Given the description of an element on the screen output the (x, y) to click on. 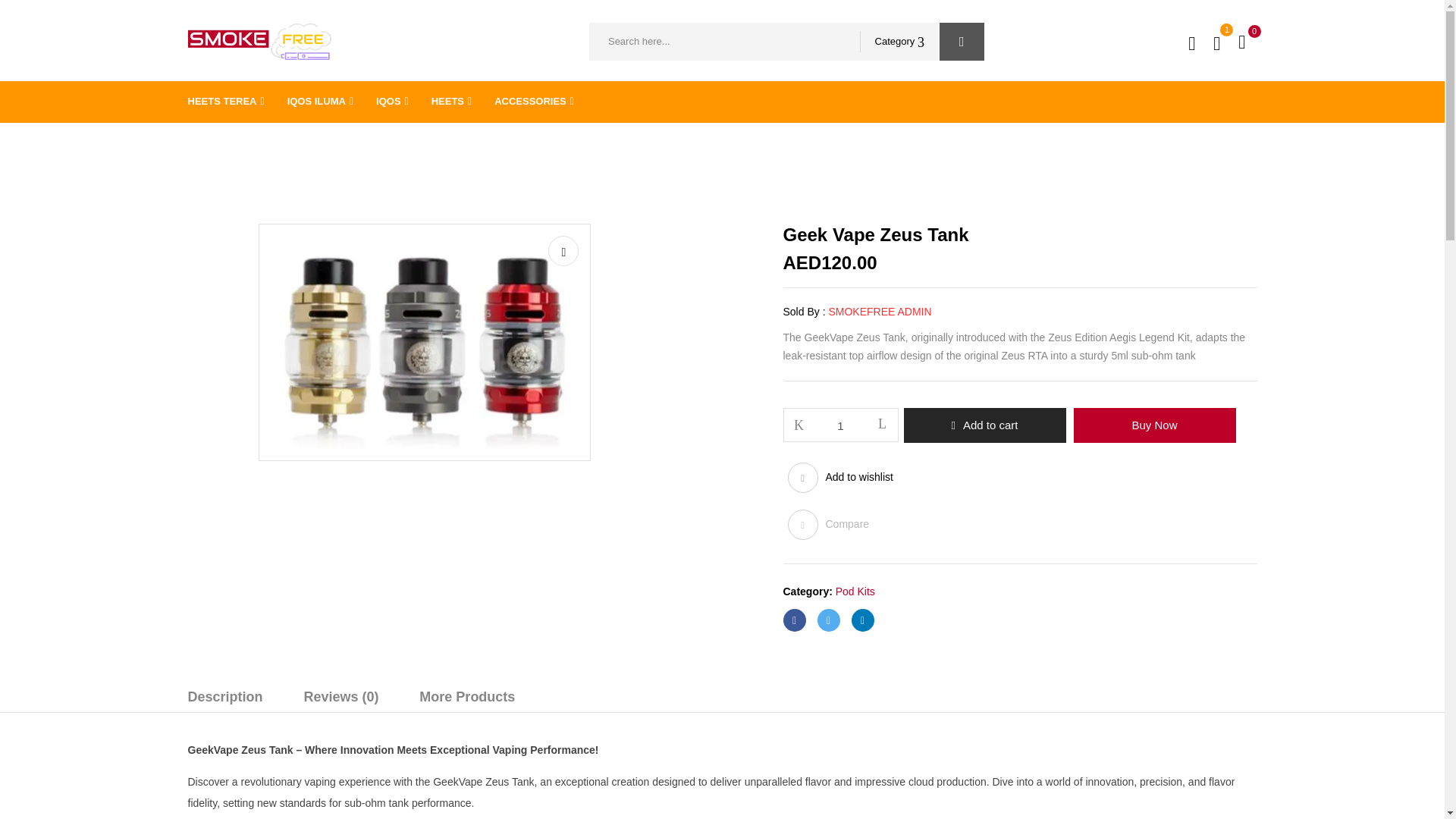
Twitter (828, 620)
LinkedIn (861, 620)
Facebook (794, 620)
1 (841, 425)
